Given the description of an element on the screen output the (x, y) to click on. 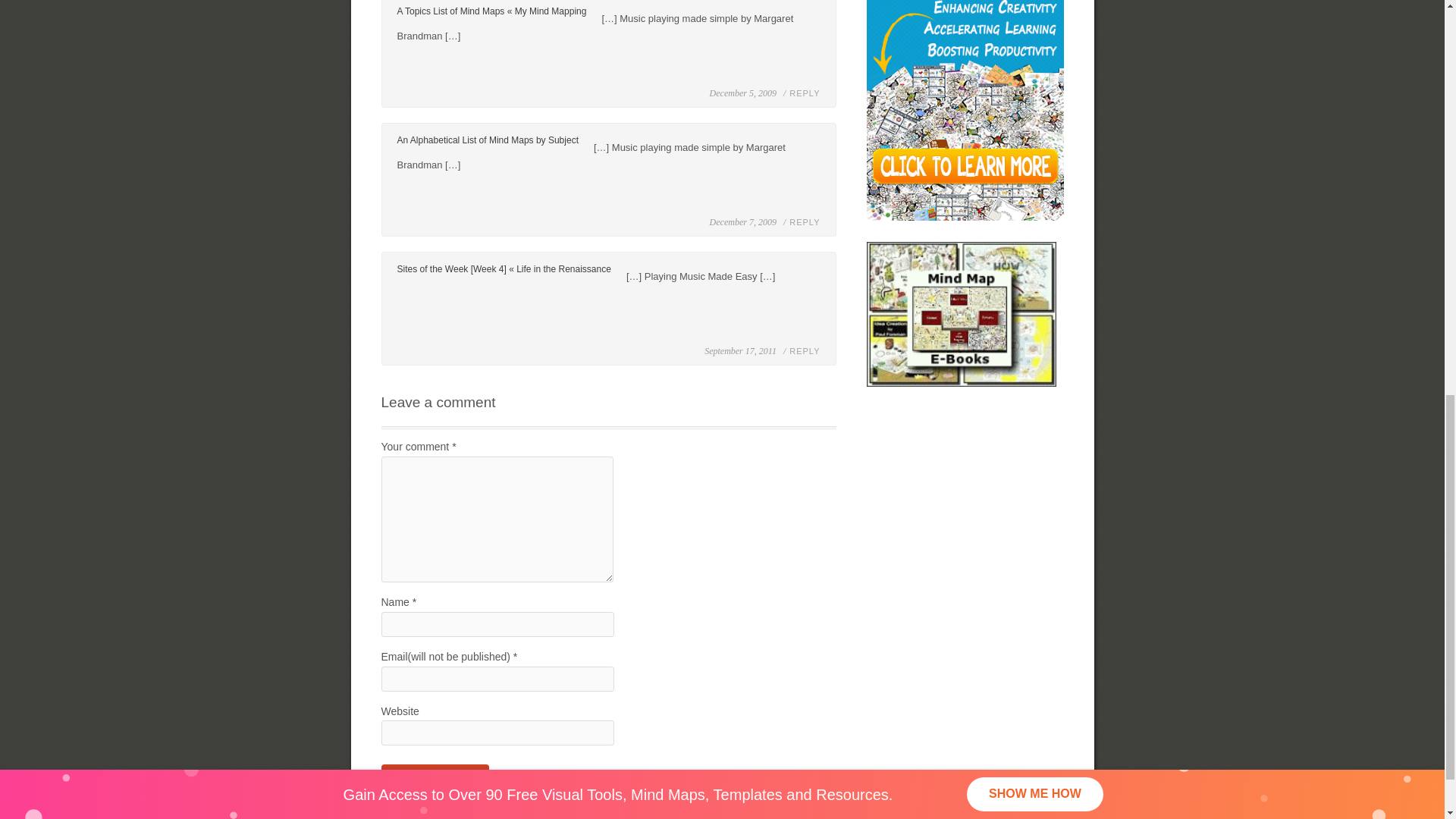
Mind Map eBooks by Paul Foreman (960, 313)
Submit Comment (434, 775)
